Given the description of an element on the screen output the (x, y) to click on. 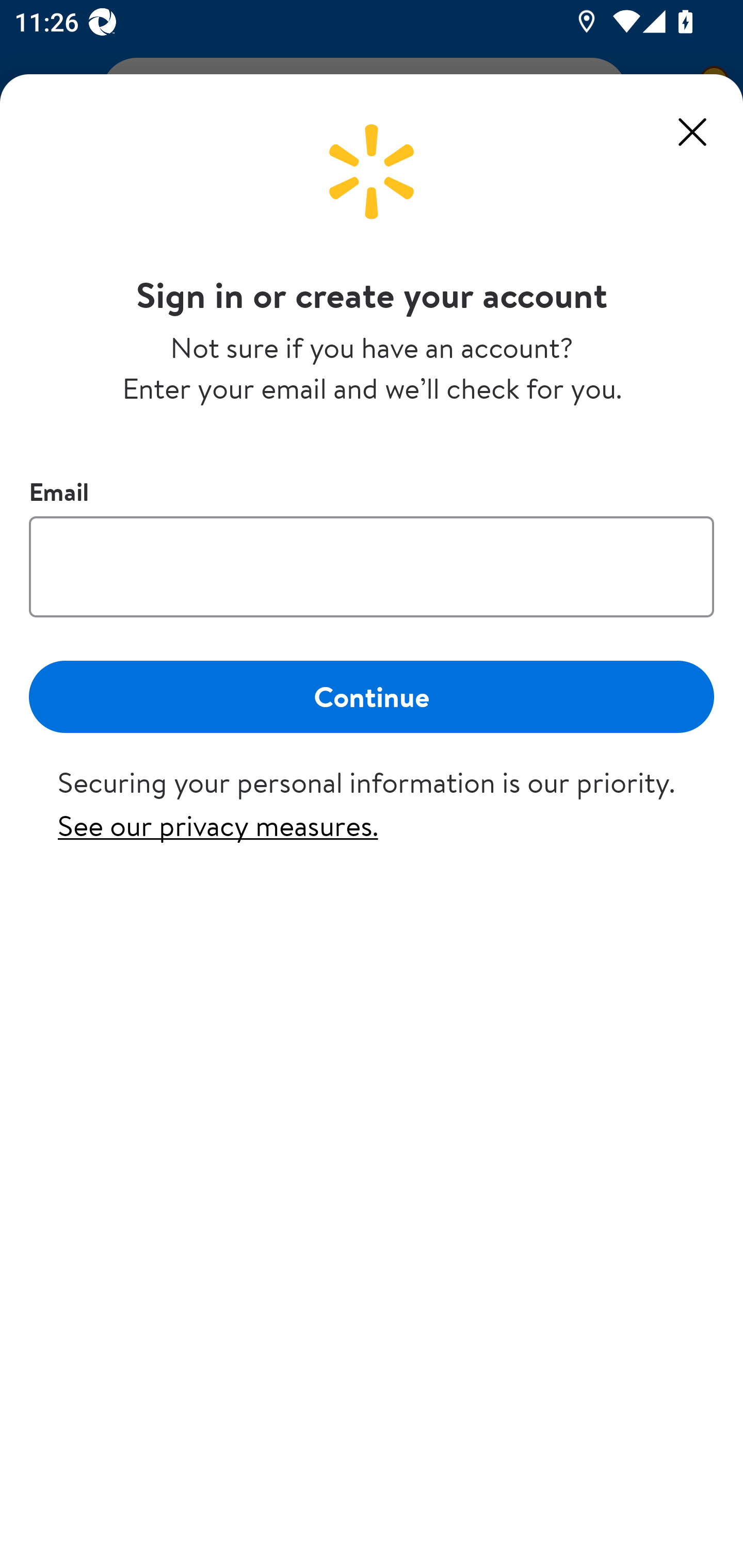
Close (692, 131)
Email (371, 566)
Continue (371, 696)
